Given the description of an element on the screen output the (x, y) to click on. 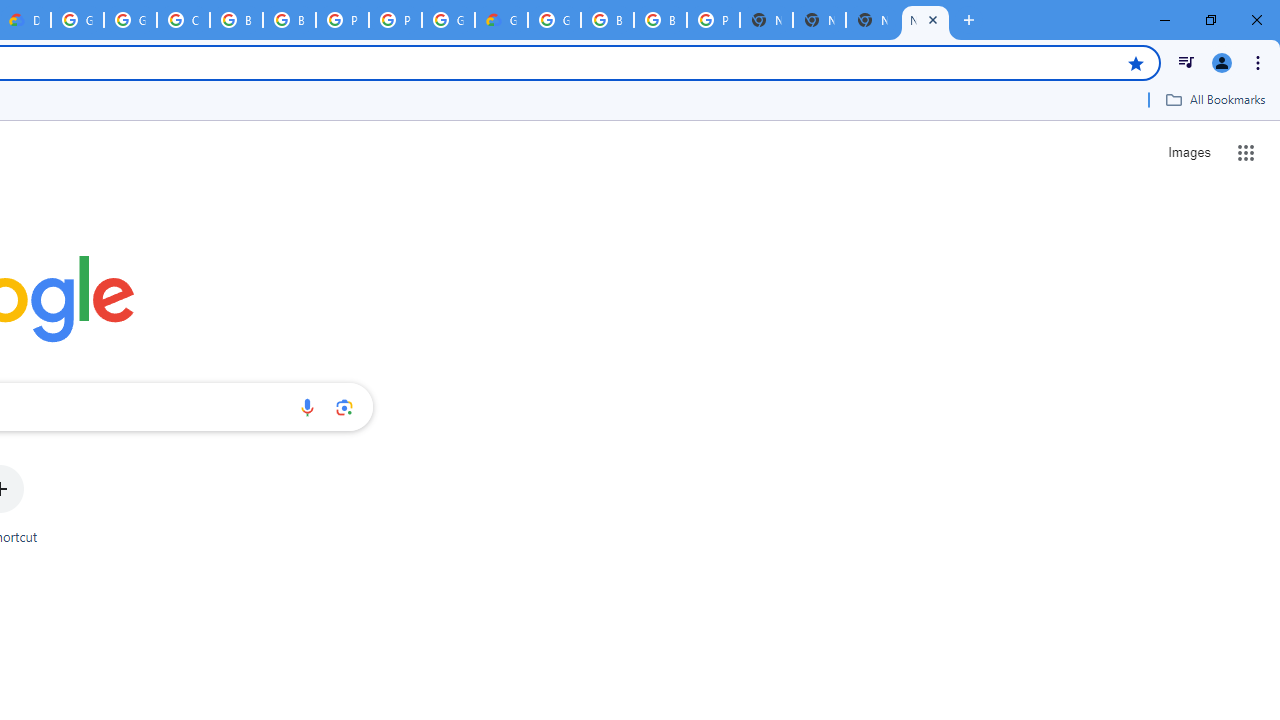
Browse Chrome as a guest - Computer - Google Chrome Help (607, 20)
New Tab (766, 20)
Google Cloud Platform (554, 20)
Google Cloud Platform (77, 20)
New Tab (872, 20)
